Given the description of an element on the screen output the (x, y) to click on. 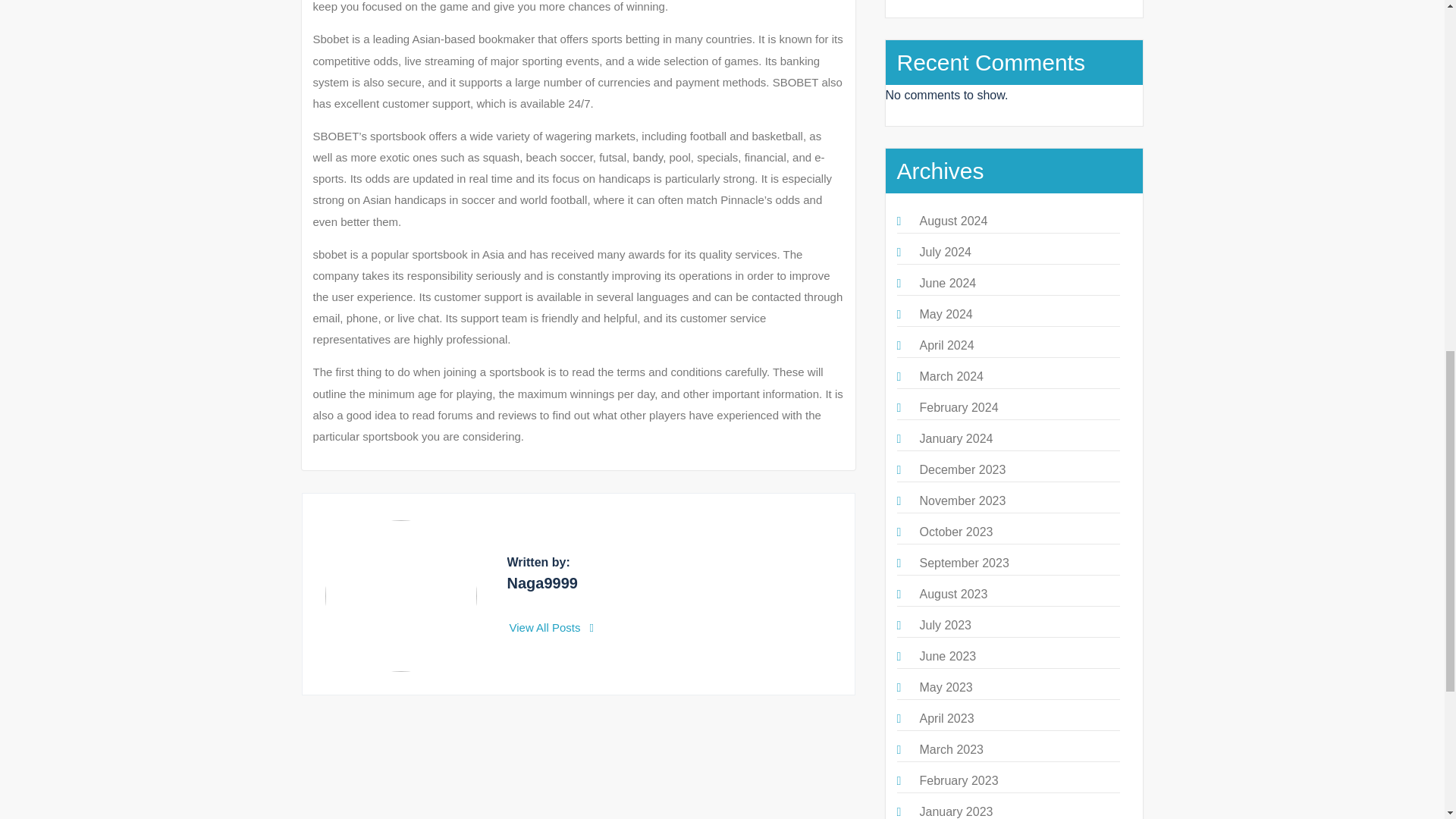
View All Posts (551, 626)
July 2023 (944, 625)
July 2024 (944, 251)
April 2023 (946, 717)
March 2024 (951, 376)
September 2023 (963, 562)
August 2023 (952, 594)
December 2023 (962, 469)
May 2023 (945, 686)
October 2023 (955, 531)
January 2024 (955, 438)
January 2023 (955, 811)
June 2024 (946, 282)
February 2024 (957, 407)
April 2024 (946, 345)
